Given the description of an element on the screen output the (x, y) to click on. 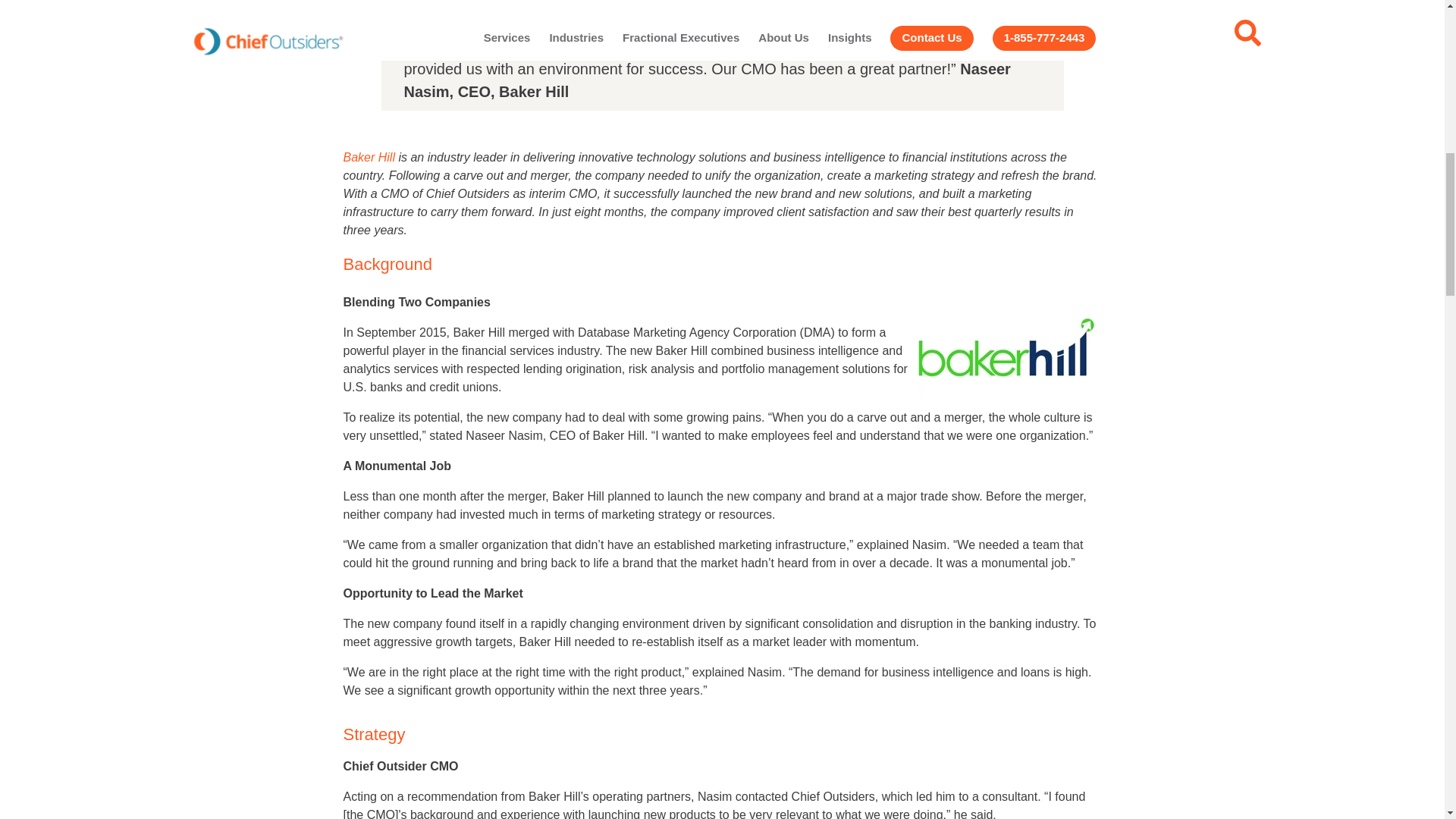
baker-hill-logo.jpeg (1005, 347)
